Given the description of an element on the screen output the (x, y) to click on. 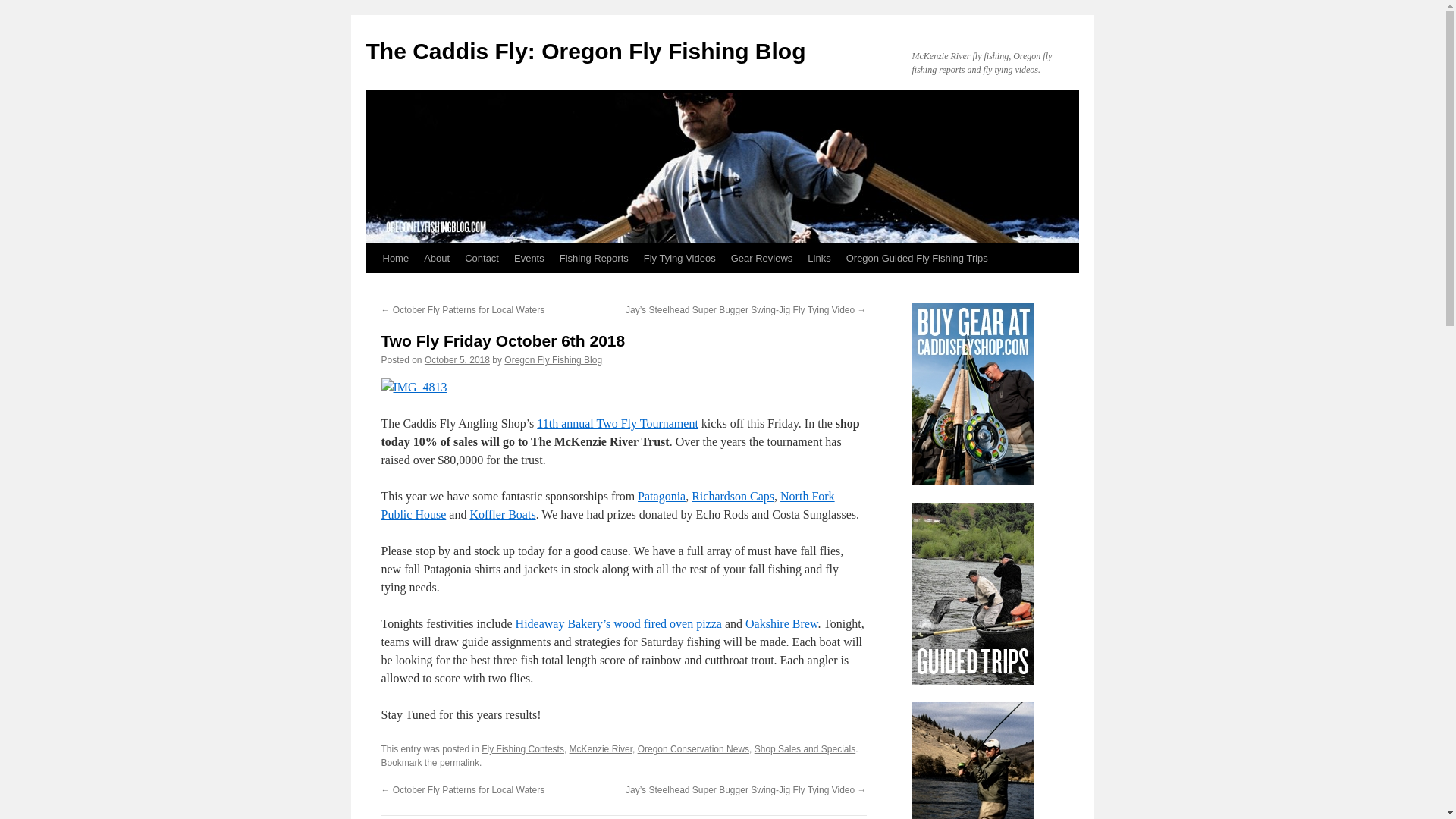
Links (818, 258)
Oregon Conservation News (693, 748)
Permalink to Two Fly Friday October 6th 2018 (459, 762)
Patagonia (661, 495)
October 5, 2018 (457, 359)
Events (528, 258)
Fishing Reports (593, 258)
11th annual Two Fly Tournament (617, 422)
The Caddis Fly: Oregon Fly Fishing Blog (585, 50)
About (436, 258)
Fly Fishing Contests (522, 748)
permalink (459, 762)
Oregon Fly Fishing Blog (552, 359)
Contact (481, 258)
Oakshire Brew (780, 623)
